Given the description of an element on the screen output the (x, y) to click on. 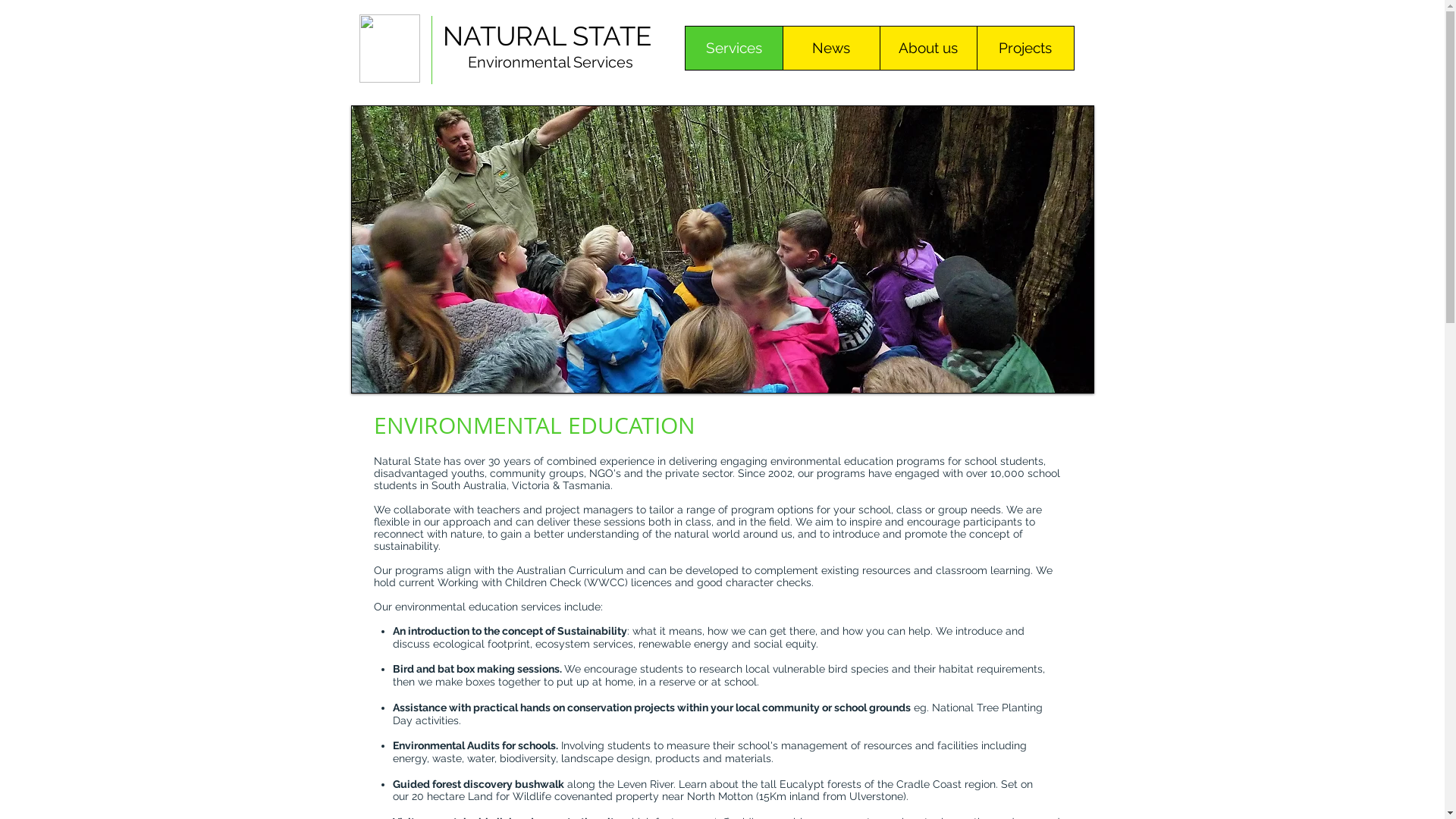
Services Element type: text (733, 47)
NaturalState Logo.jpg Element type: hover (389, 48)
Projects Element type: text (1024, 47)
About us Element type: text (927, 47)
News Element type: text (830, 47)
